Given the description of an element on the screen output the (x, y) to click on. 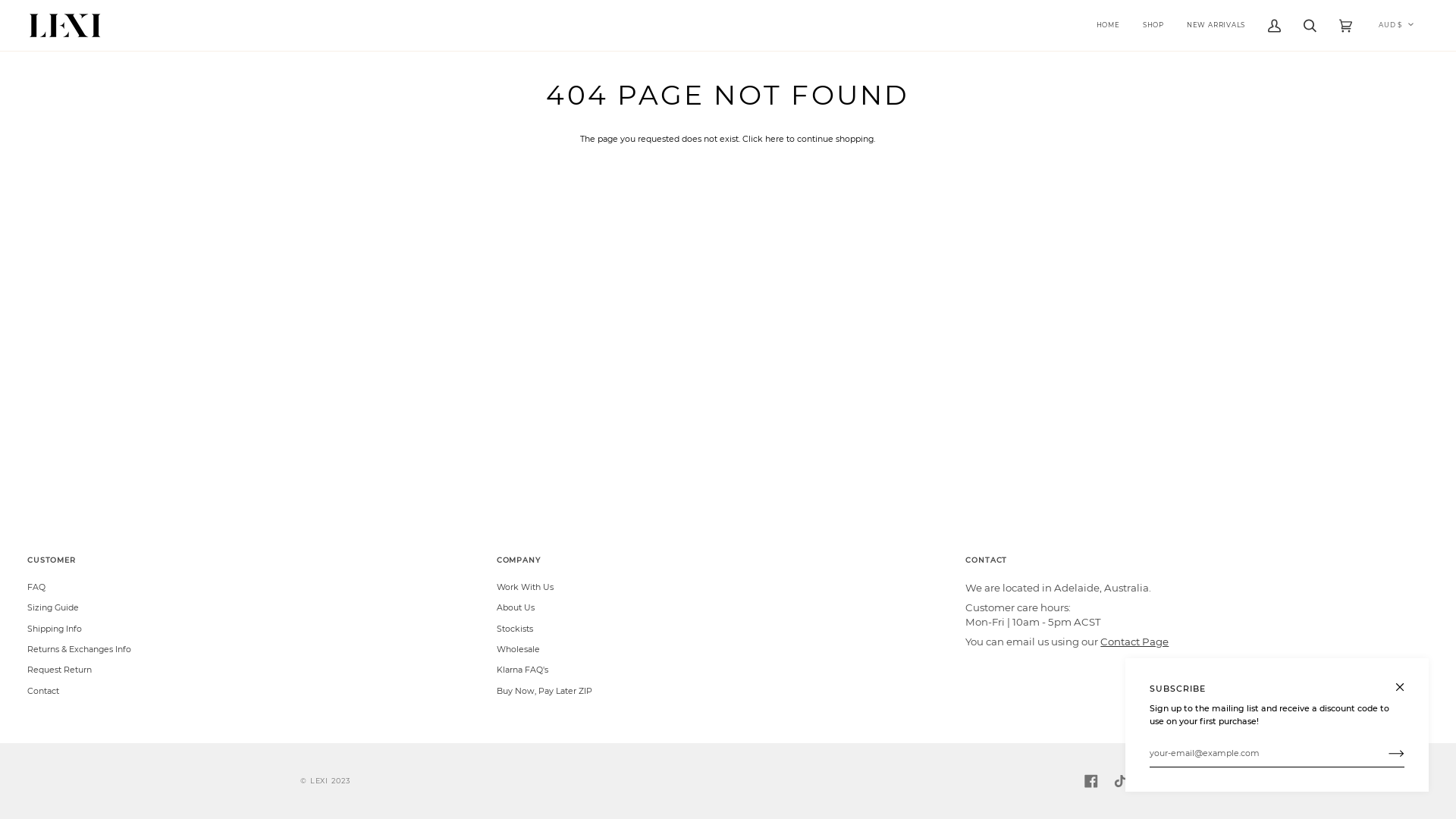
NEW ARRIVALS Element type: text (1215, 25)
INSTAGRAM Element type: text (1148, 780)
SHOP Element type: text (1153, 25)
Wholesale Element type: text (517, 648)
Returns & Exchanges Info Element type: text (79, 648)
Search Element type: text (1309, 25)
My Account Element type: text (1274, 25)
Buy Now, Pay Later ZIP Element type: text (544, 690)
AUD $ Element type: text (1395, 25)
Shipping Info Element type: text (54, 628)
LEXI Element type: text (319, 780)
here Element type: text (774, 138)
FAQ Element type: text (36, 586)
Work With Us Element type: text (524, 586)
FACEBOOK Element type: text (1091, 780)
Contact Page Element type: text (1134, 641)
Klarna FAQ's Element type: text (522, 669)
Close Element type: hover (1405, 680)
Sizing Guide Element type: text (52, 607)
HOME Element type: text (1108, 25)
Contact Element type: text (43, 690)
Request Return Element type: text (59, 669)
Cart
(0) Element type: text (1345, 25)
TIKTOK Element type: text (1119, 780)
About Us Element type: text (515, 607)
Stockists Element type: text (514, 628)
